Given the description of an element on the screen output the (x, y) to click on. 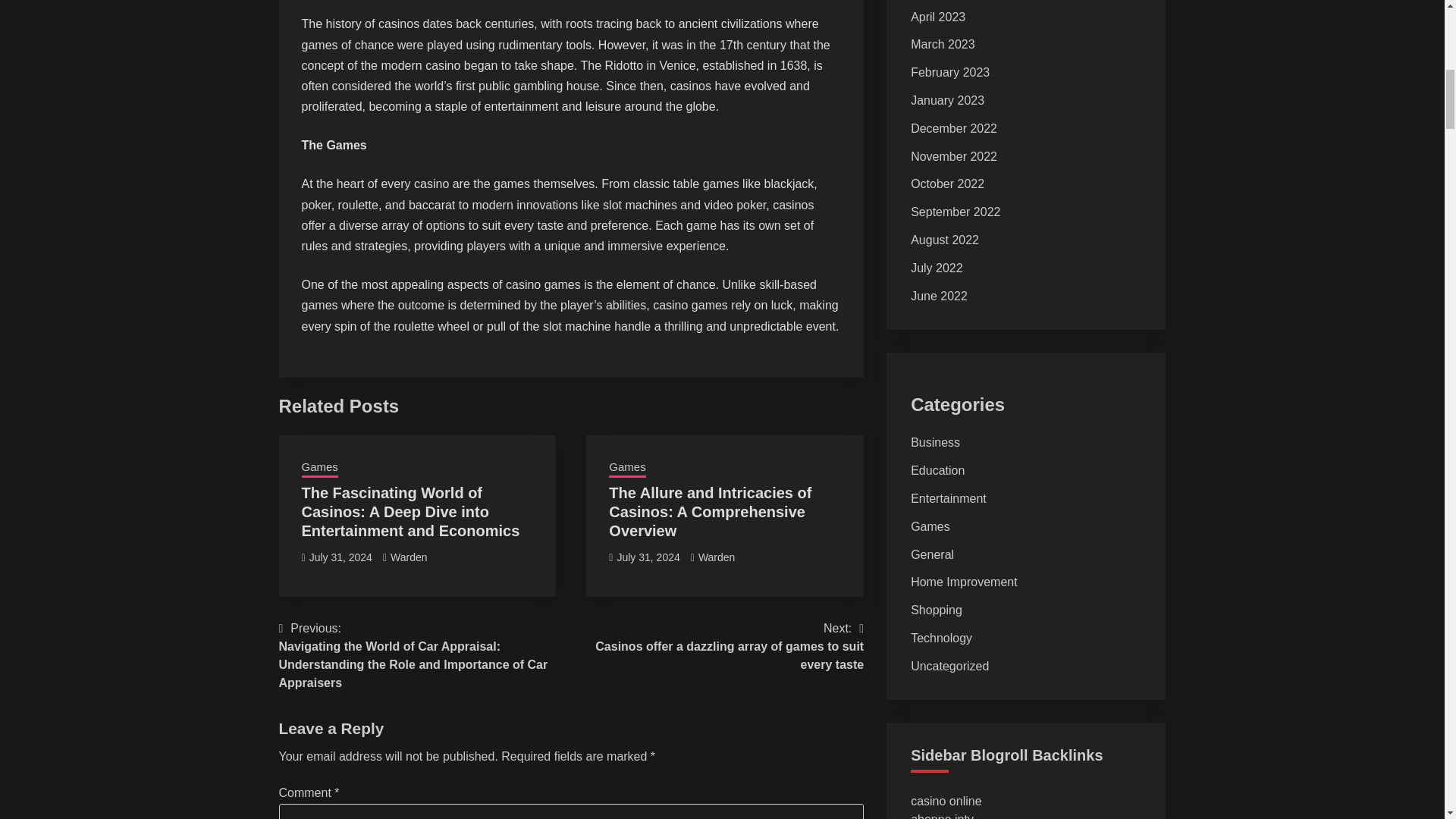
Games (319, 468)
Warden (716, 557)
Games (626, 468)
July 31, 2024 (340, 557)
July 31, 2024 (647, 557)
Warden (409, 557)
